Given the description of an element on the screen output the (x, y) to click on. 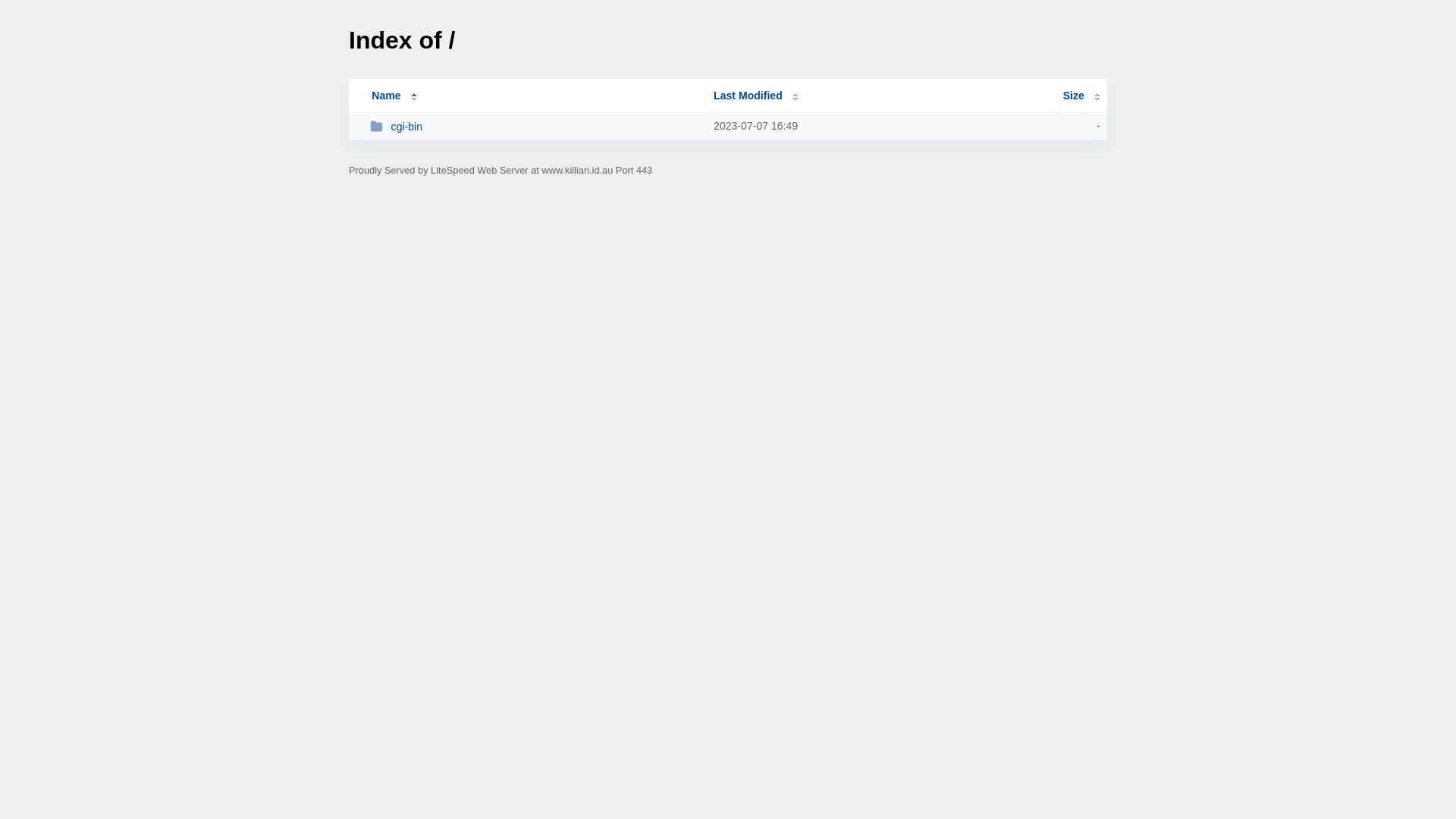
Name Element type: text (385, 95)
Size Element type: text (1081, 95)
cgi-bin Element type: text (534, 125)
Last Modified Element type: text (755, 95)
